Given the description of an element on the screen output the (x, y) to click on. 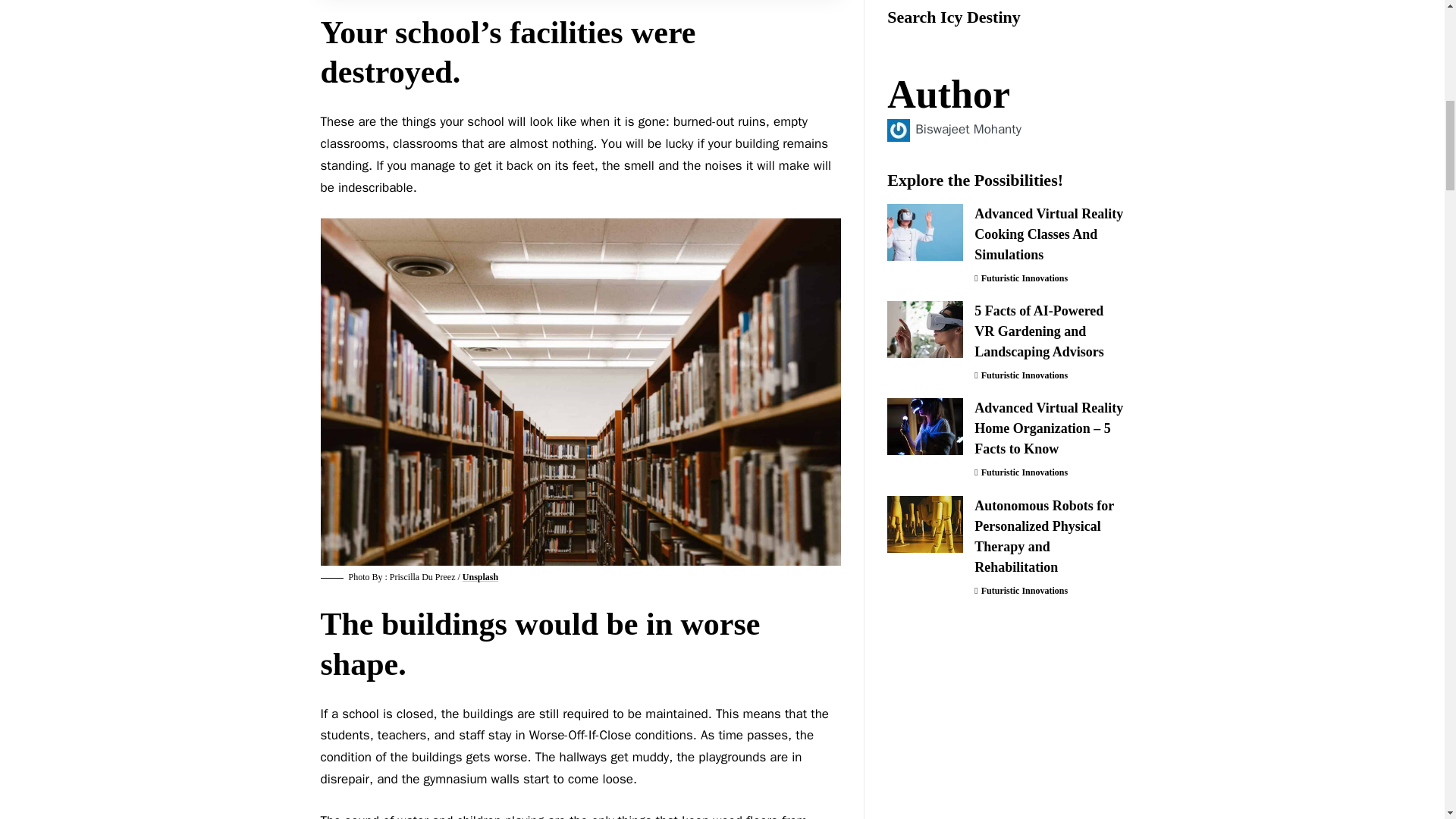
5 Facts of AI-Powered VR Gardening and Landscaping Advisors (924, 80)
Advanced Virtual Reality Cooking Classes And Simulations (924, 6)
